Given the description of an element on the screen output the (x, y) to click on. 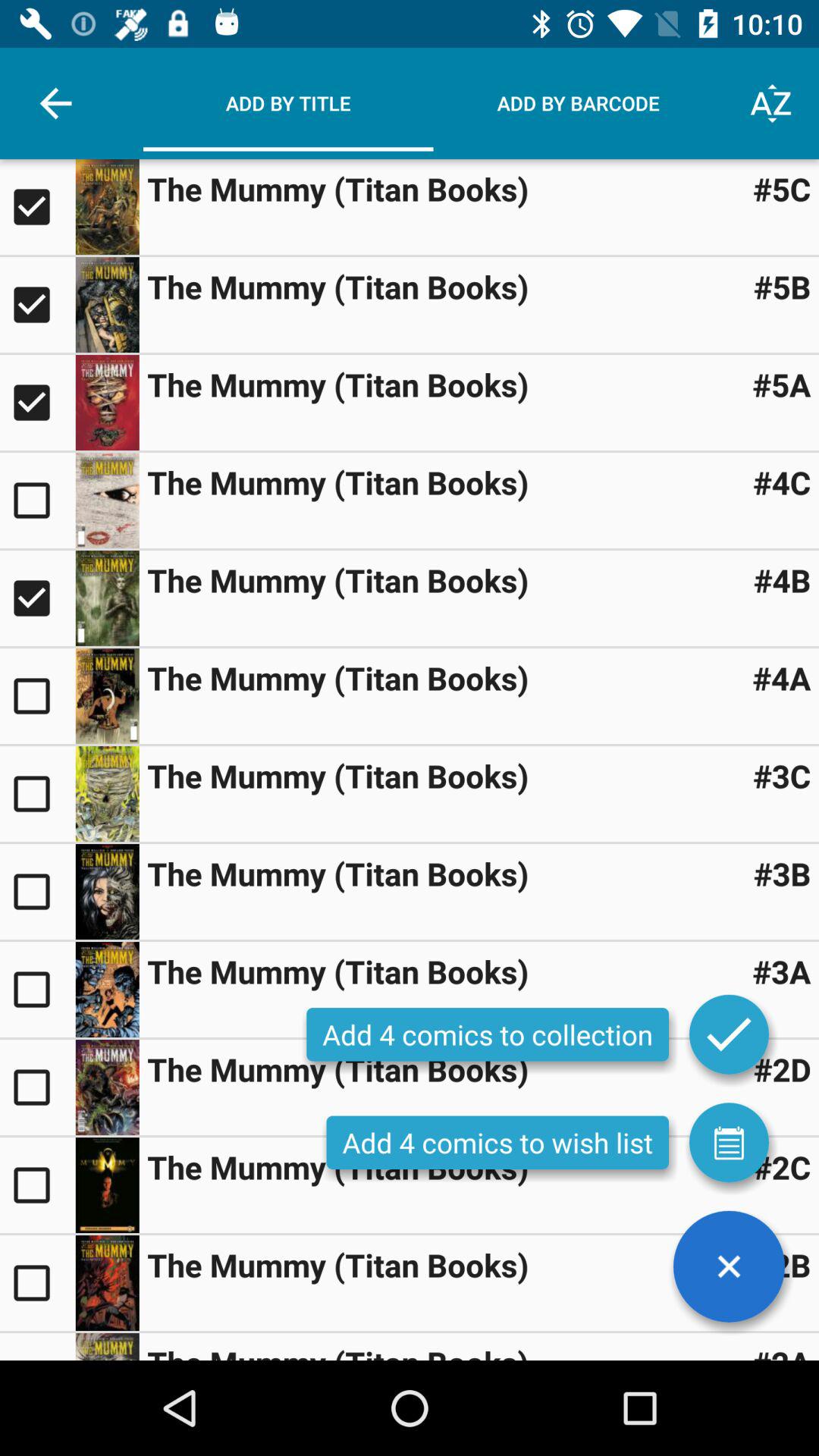
open the book cover (107, 1282)
